Given the description of an element on the screen output the (x, y) to click on. 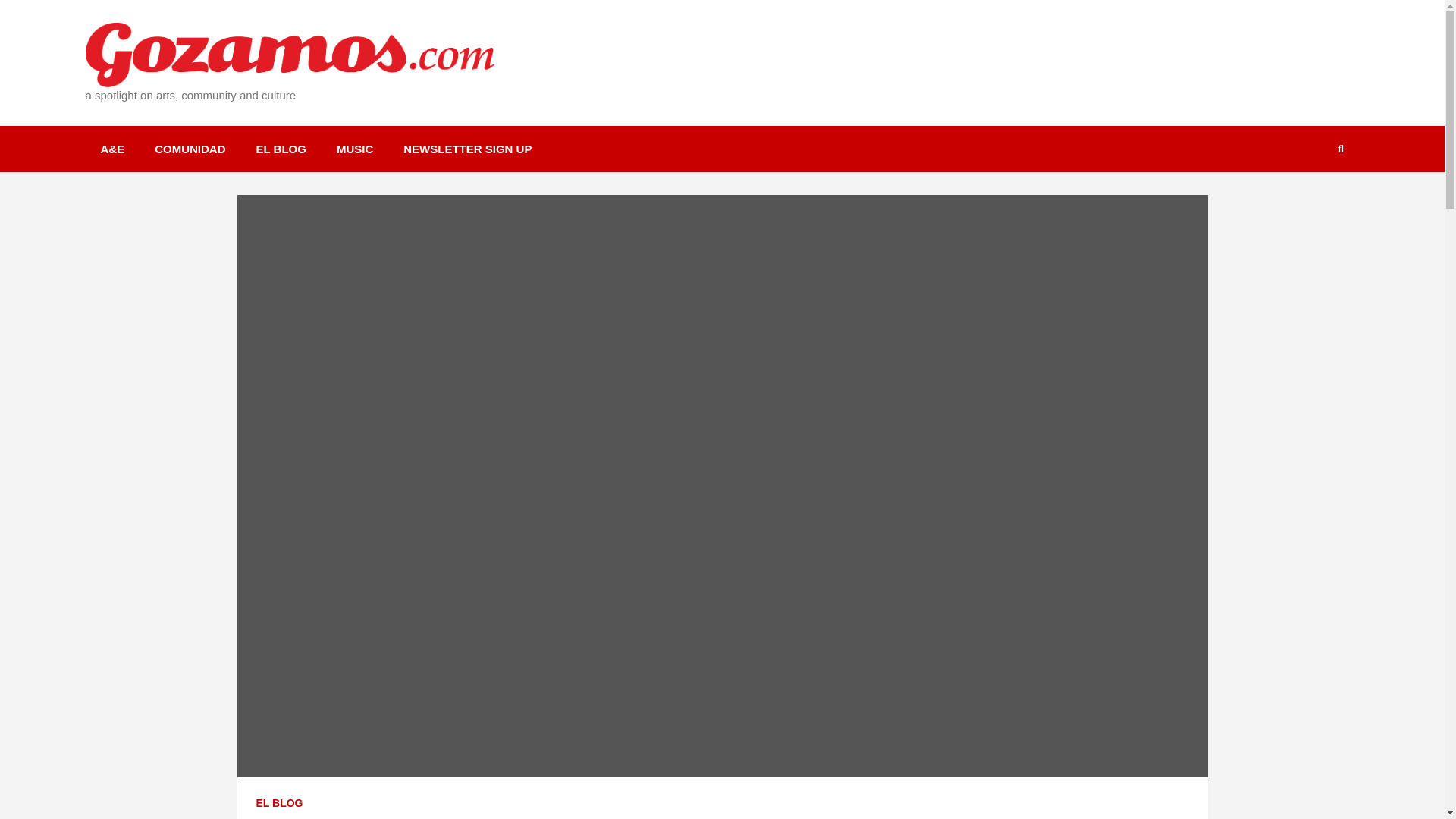
EL BLOG (281, 148)
MUSIC (354, 148)
COMUNIDAD (189, 148)
NEWSLETTER SIGN UP (467, 148)
EL BLOG (279, 803)
